Given the description of an element on the screen output the (x, y) to click on. 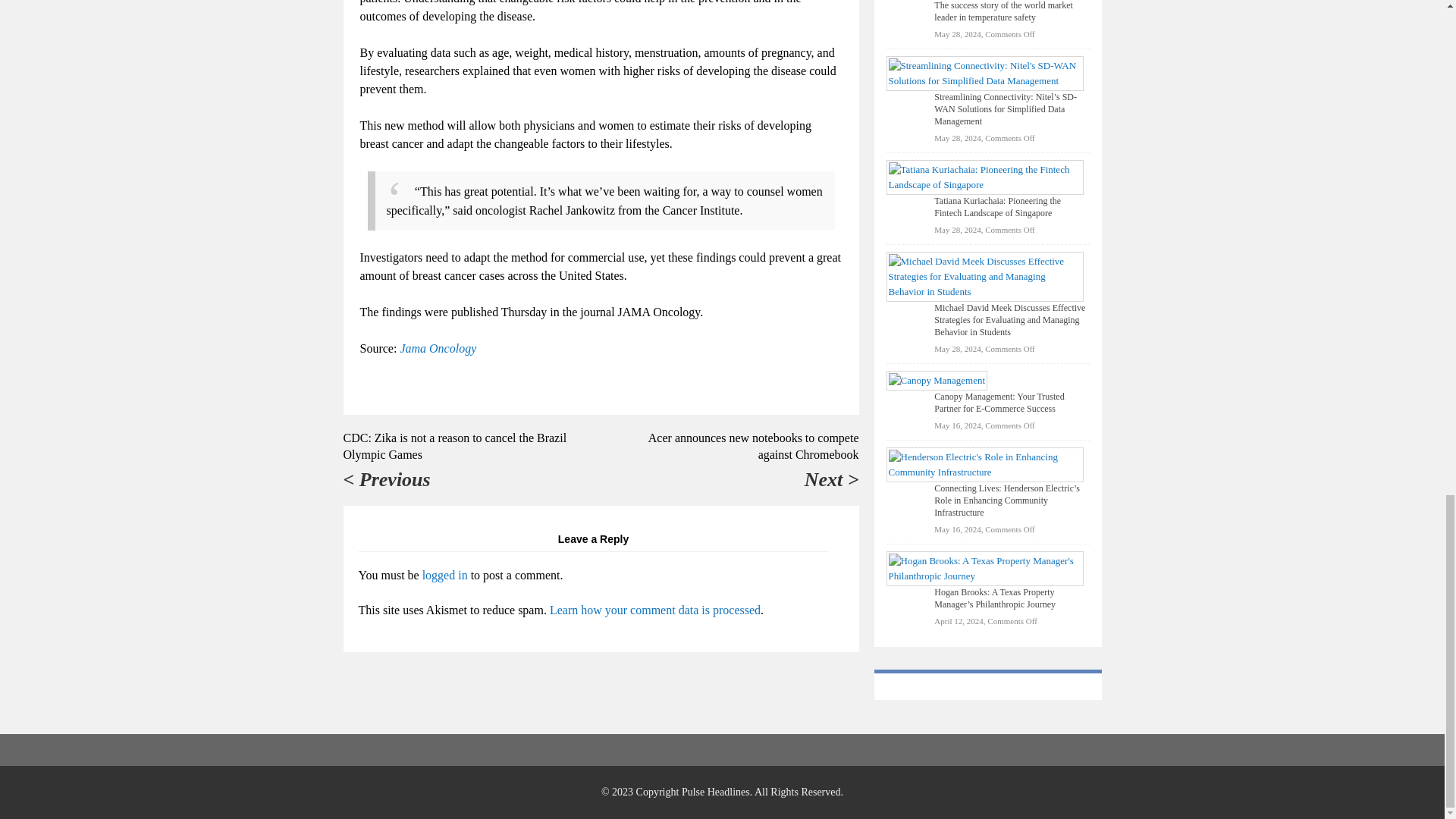
Learn how your comment data is processed (655, 609)
Jama Oncology (437, 348)
CDC: Zika is not a reason to cancel the Brazil Olympic Games (454, 446)
logged in (444, 574)
Acer announces new notebooks to compete against Chromebook (753, 446)
